Given the description of an element on the screen output the (x, y) to click on. 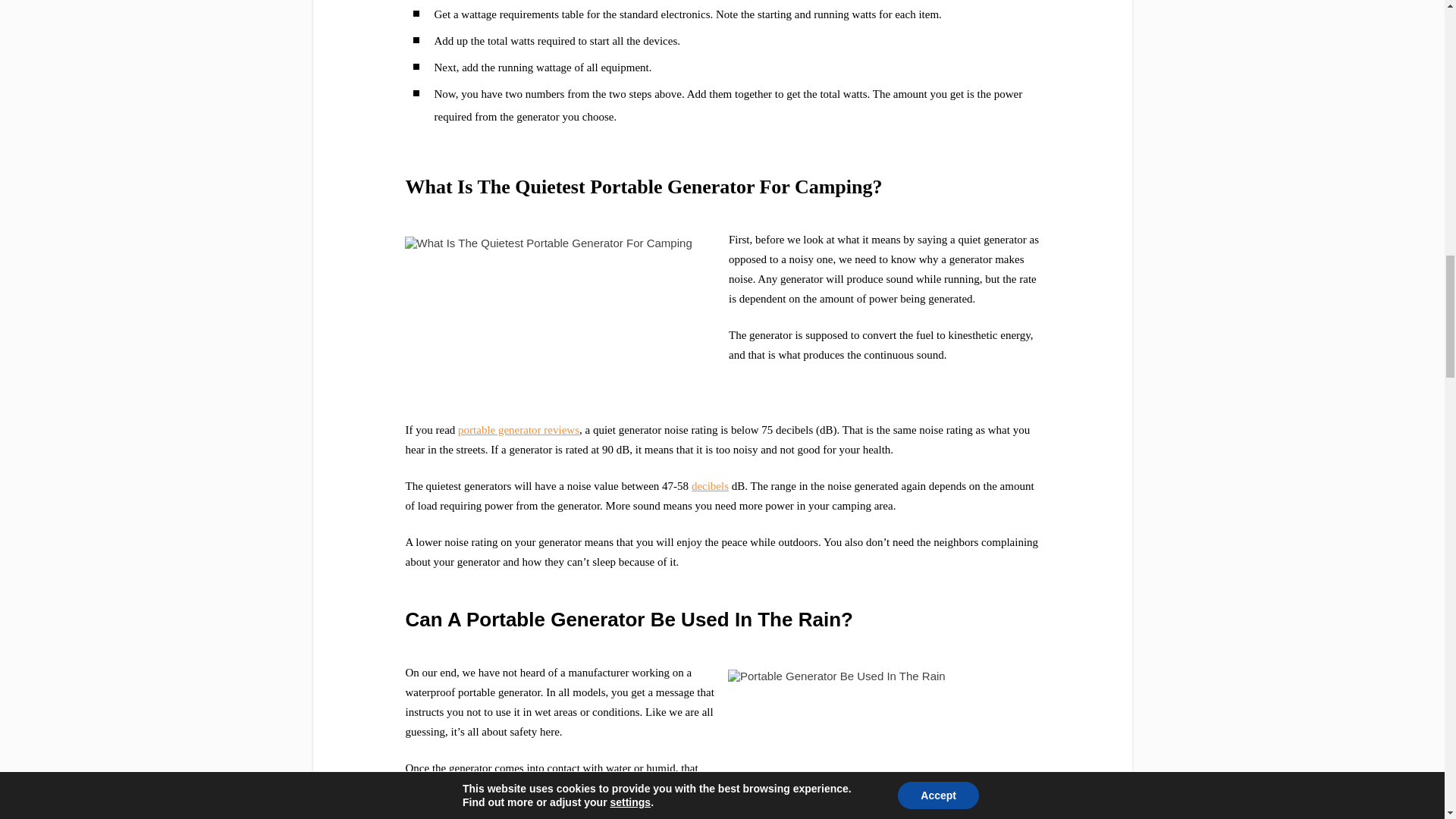
decibels (710, 485)
What Is The Quietest Portable Generator For Camping (560, 310)
Portable Generator Be Used In The Rain (884, 743)
portable generator reviews (518, 429)
